Given the description of an element on the screen output the (x, y) to click on. 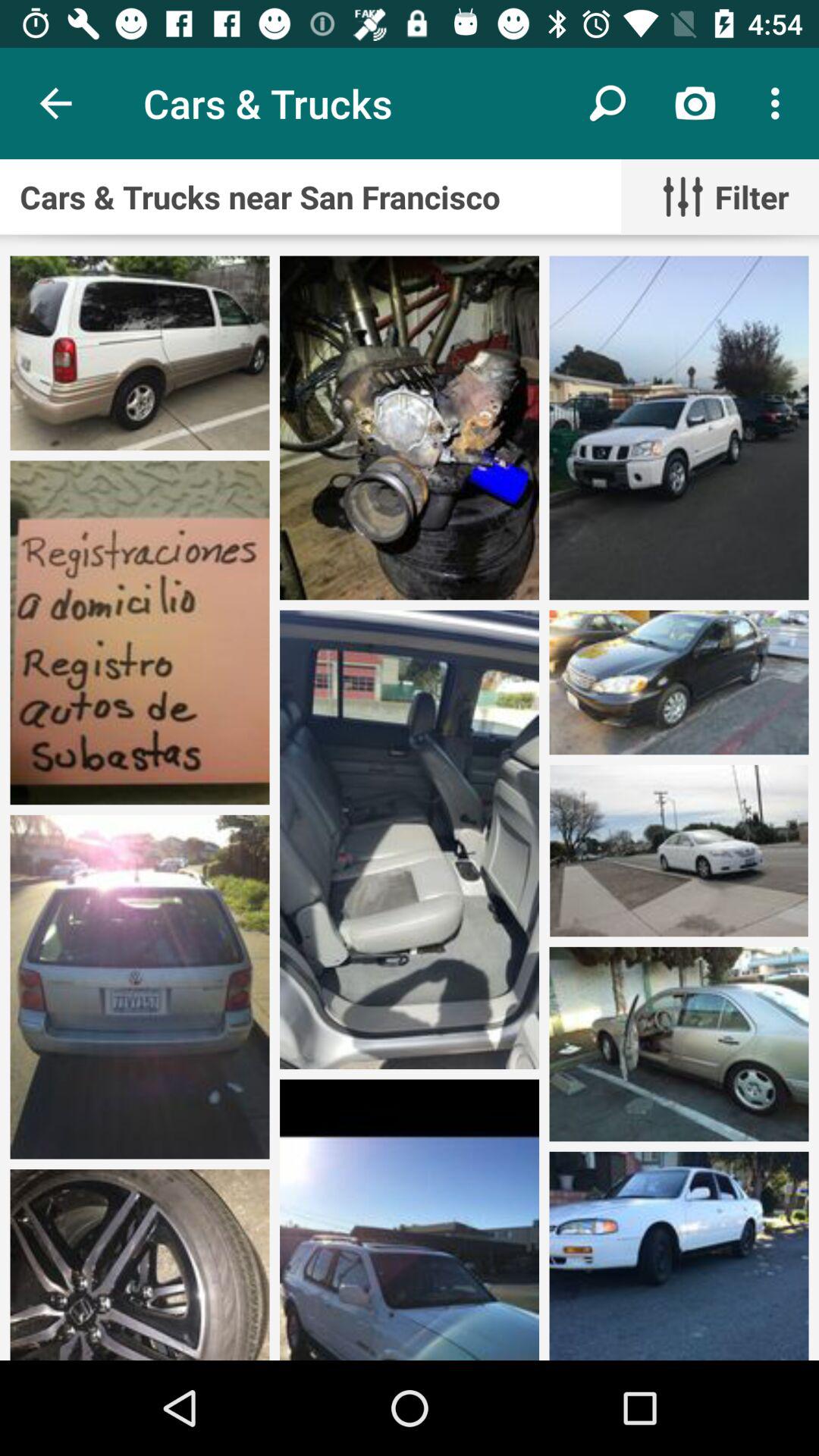
turn off item next to the cars & trucks icon (55, 103)
